Given the description of an element on the screen output the (x, y) to click on. 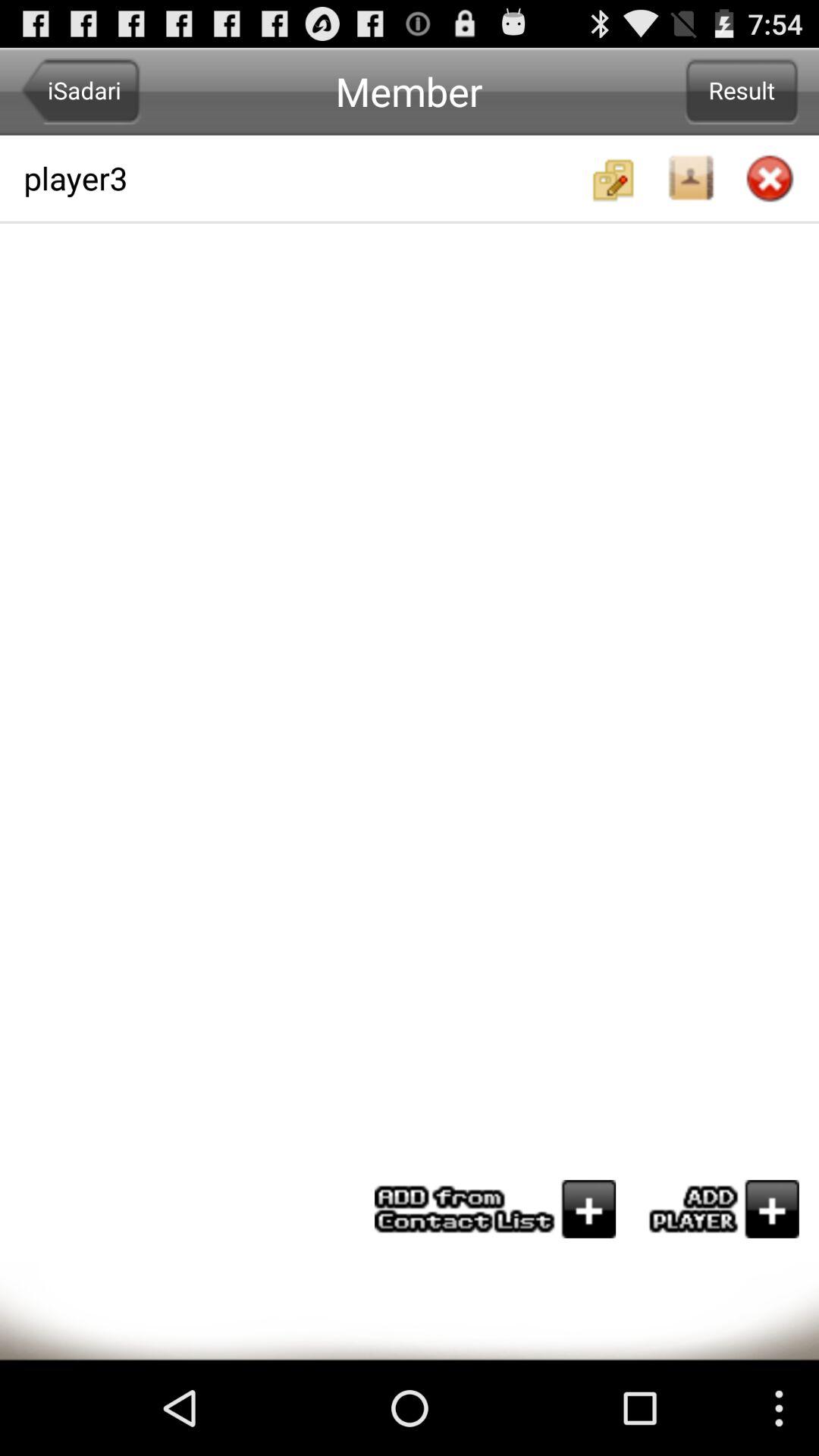
close (770, 179)
